Given the description of an element on the screen output the (x, y) to click on. 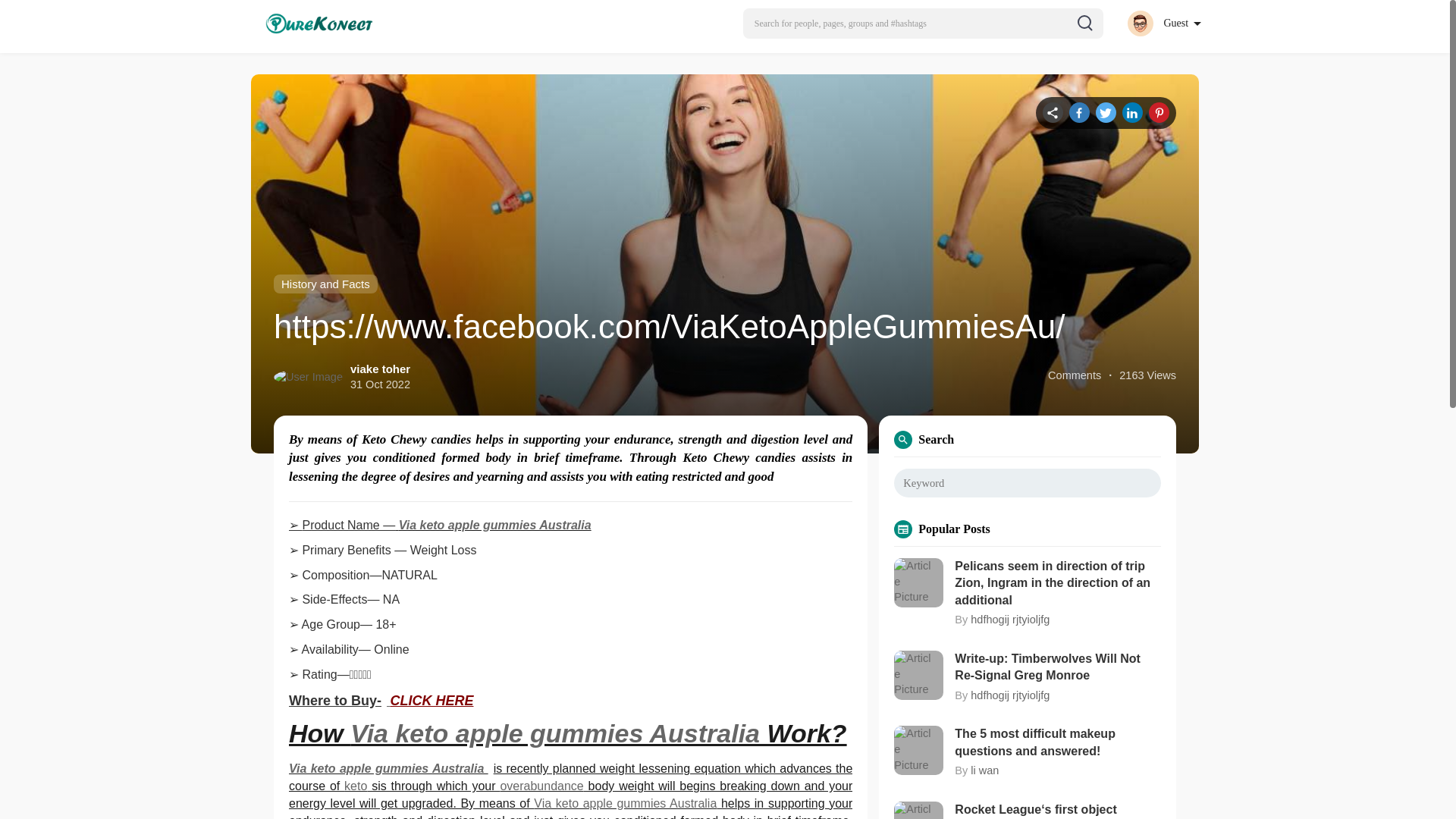
Via keto apple gummies Australia (555, 733)
viake toher (380, 368)
Twitter (1106, 112)
Pinterest (1158, 112)
Via keto apple gummies Australia (625, 802)
History and Facts (325, 283)
Linkedin (1132, 112)
Guest (1163, 23)
Facebook (1078, 112)
Comments (1074, 375)
